Given the description of an element on the screen output the (x, y) to click on. 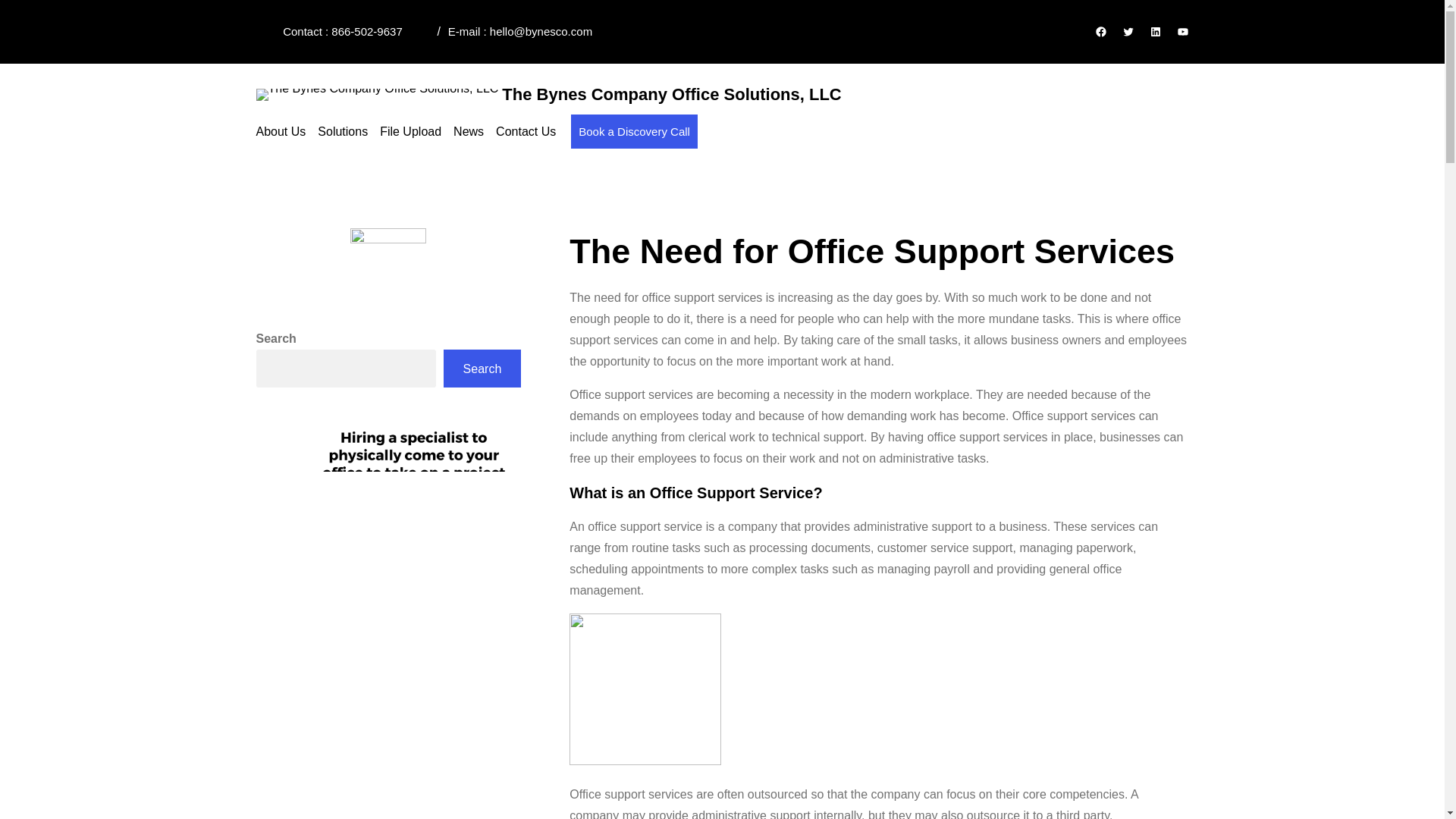
LinkedIn (1155, 31)
The Bynes Company Office Solutions, LLC (671, 96)
Search (482, 368)
Facebook (1100, 31)
Solutions (342, 131)
File Upload (410, 131)
About Us (280, 131)
YouTube (1182, 31)
Book a Discovery Call (633, 131)
News (467, 131)
Contact Us (526, 131)
Twitter (1128, 31)
